Given the description of an element on the screen output the (x, y) to click on. 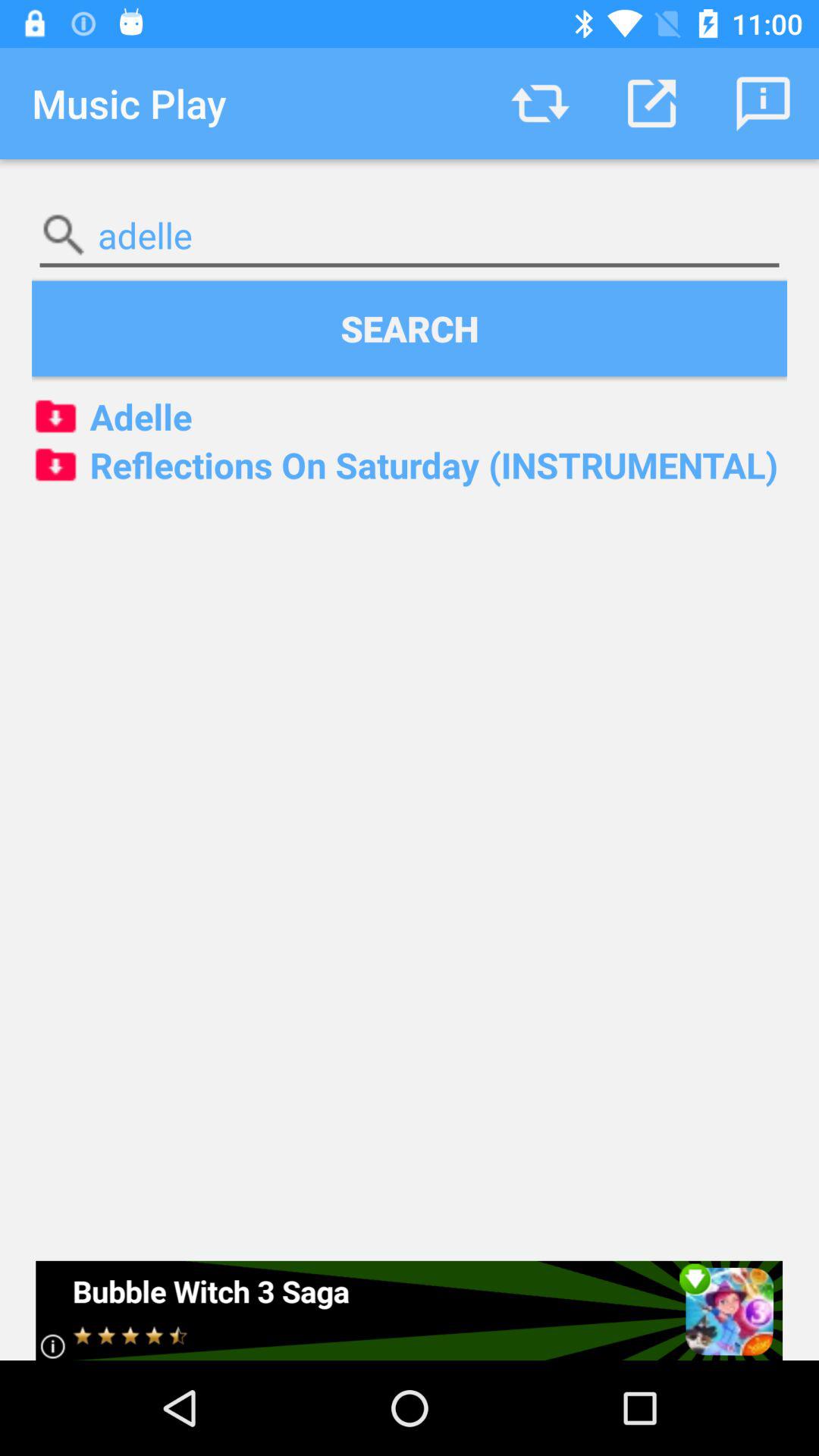
go to advertisement (408, 1310)
